Given the description of an element on the screen output the (x, y) to click on. 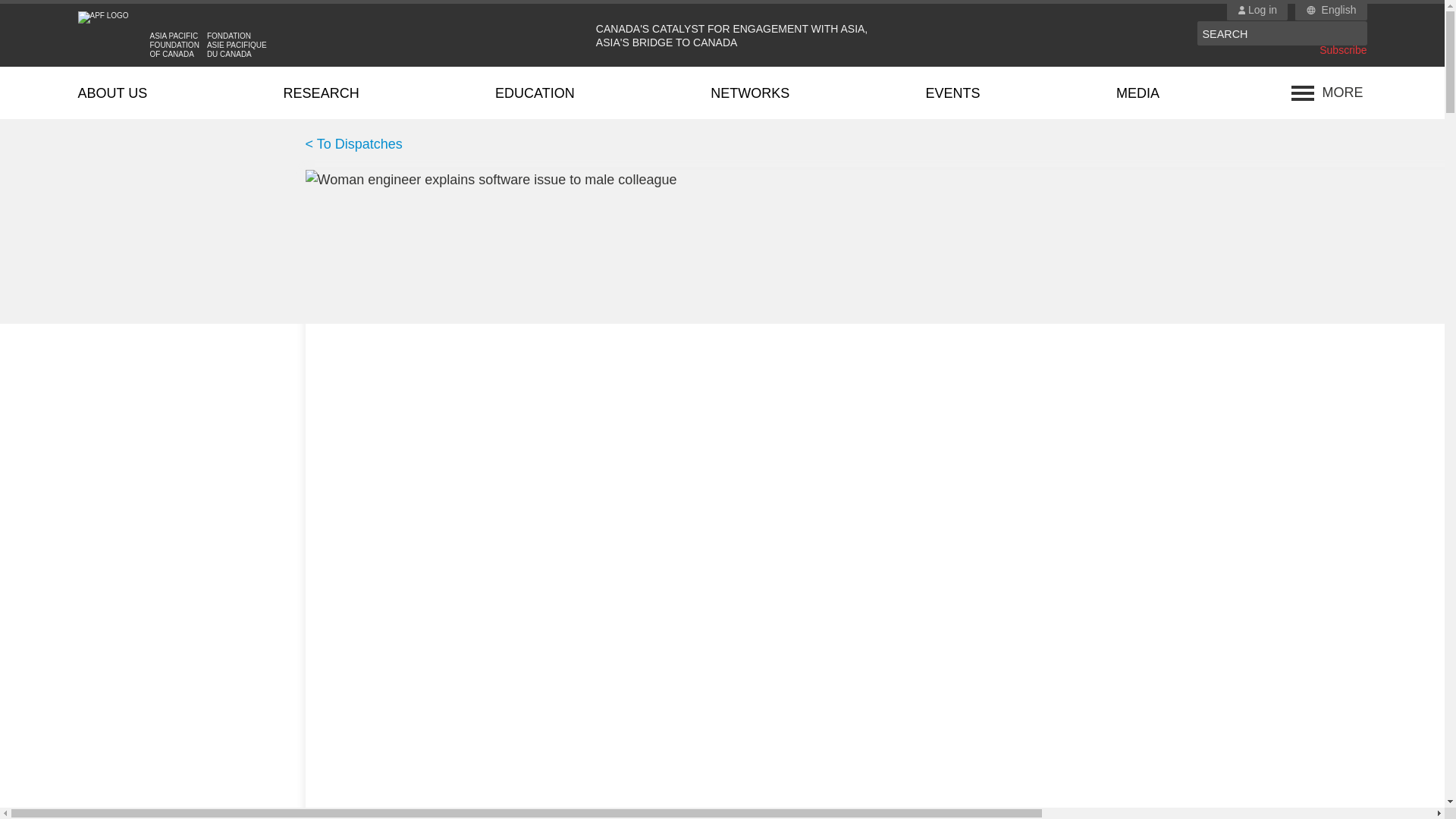
SEARCH (1269, 33)
Search (1353, 33)
Log in (1257, 10)
Subscribe (1343, 50)
Search (1353, 33)
English (1339, 10)
